Given the description of an element on the screen output the (x, y) to click on. 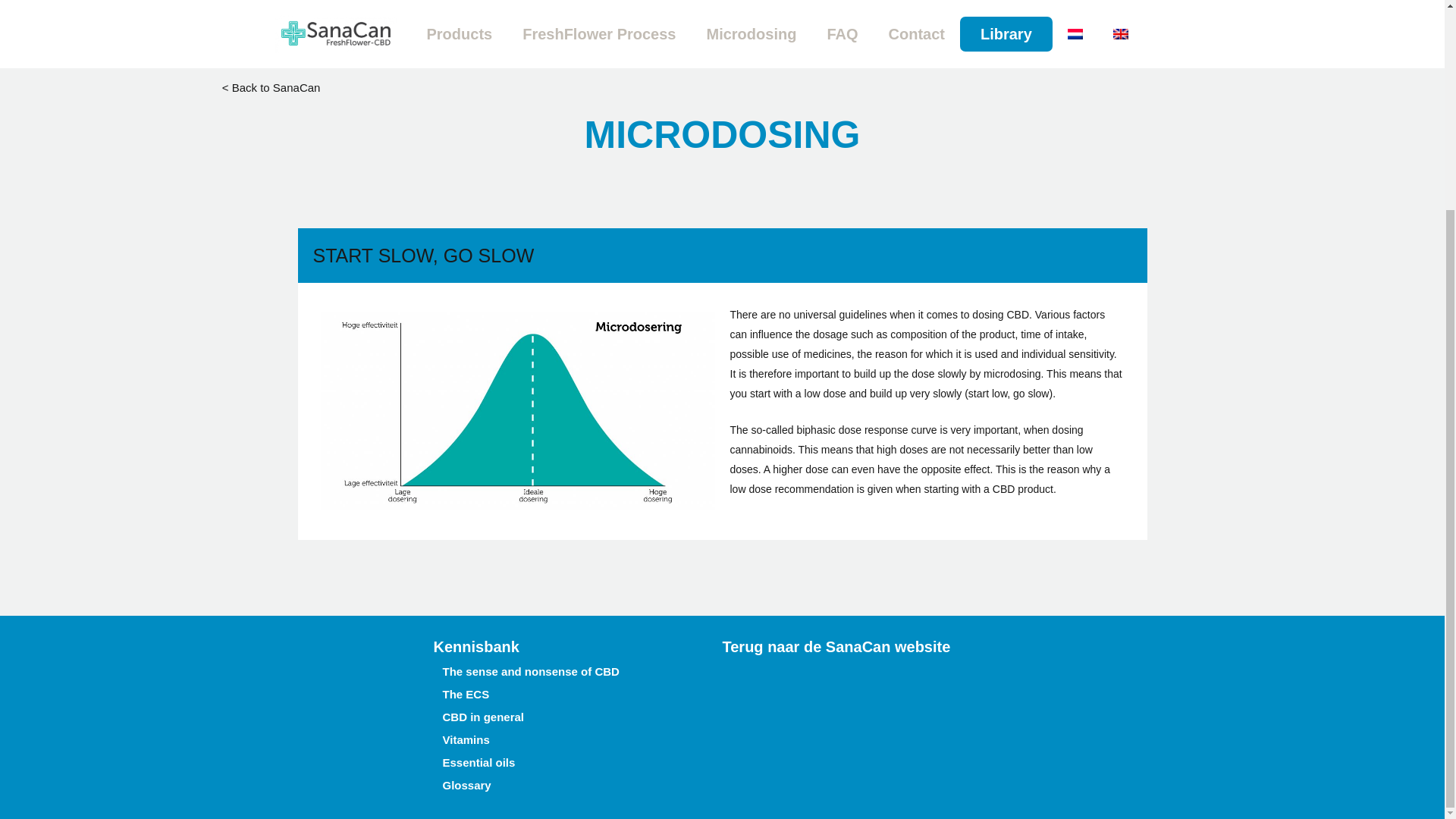
Vitamins (968, 36)
CBD in general (227, 36)
The sense and nonsense of CBD (746, 36)
The ECS (375, 36)
Microdosing (510, 36)
